Given the description of an element on the screen output the (x, y) to click on. 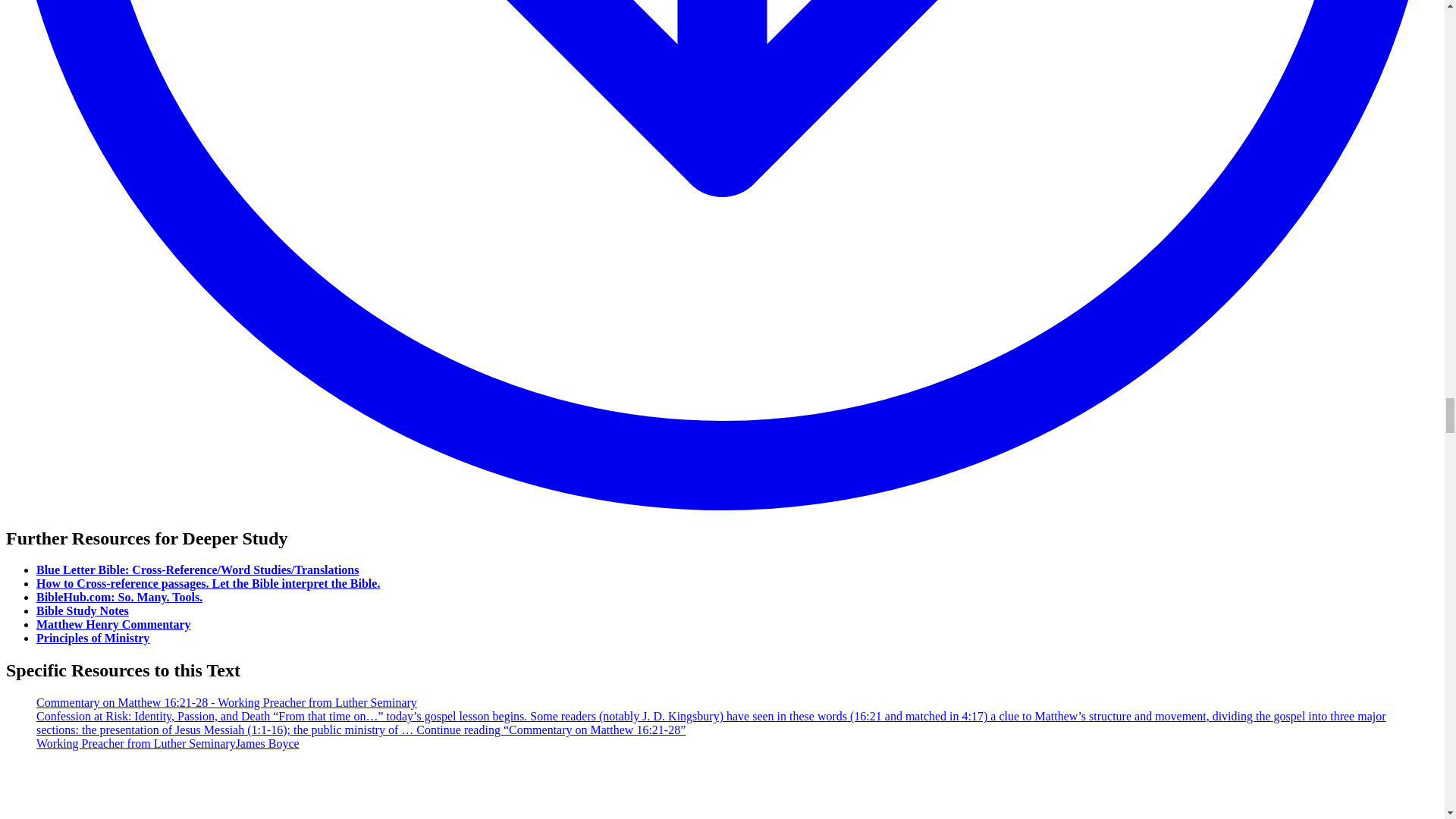
Bible Study Notes (82, 610)
BibleHub.com: So. Many. Tools. (119, 596)
